Given the description of an element on the screen output the (x, y) to click on. 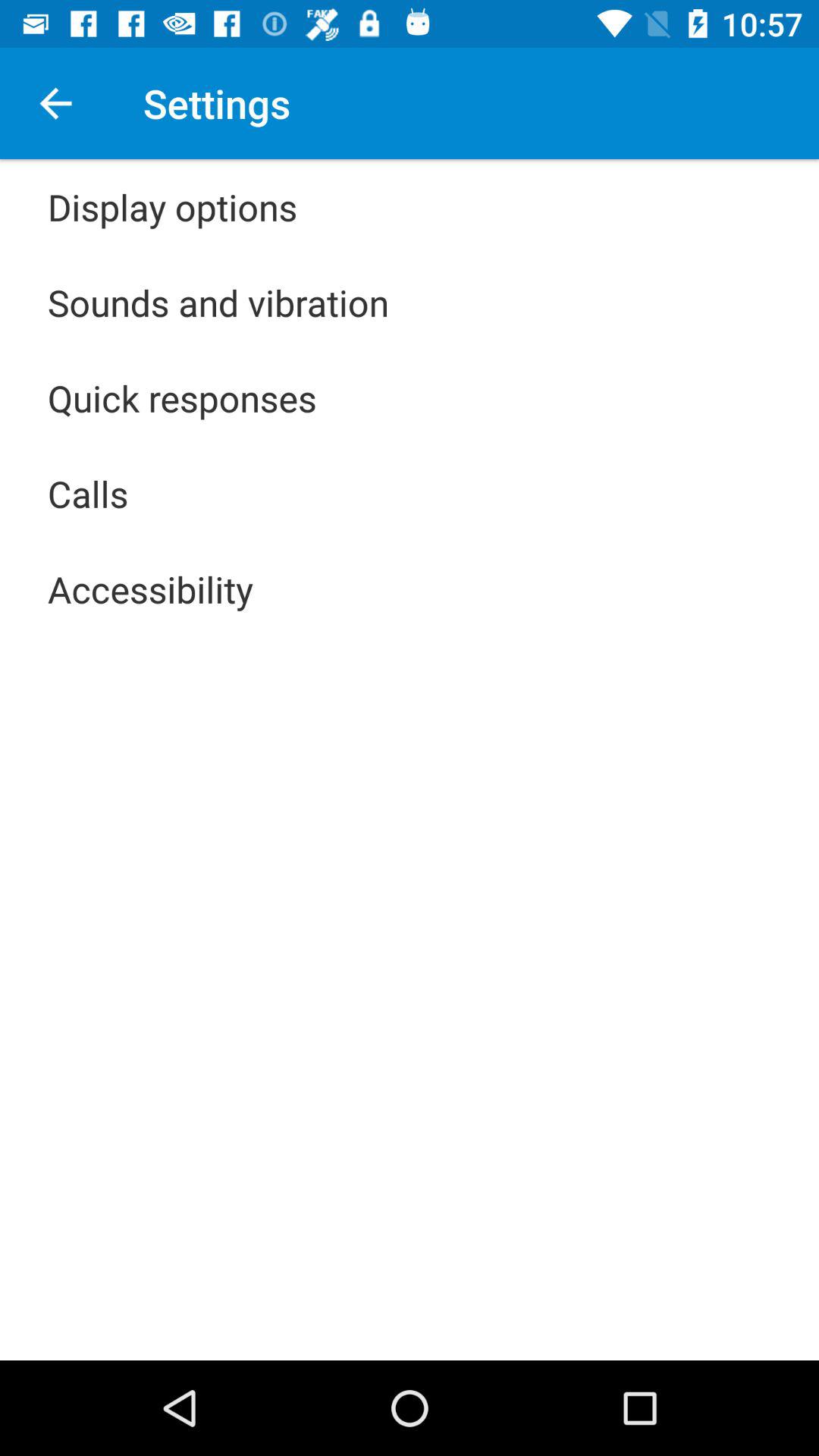
turn off app next to the settings app (55, 103)
